Given the description of an element on the screen output the (x, y) to click on. 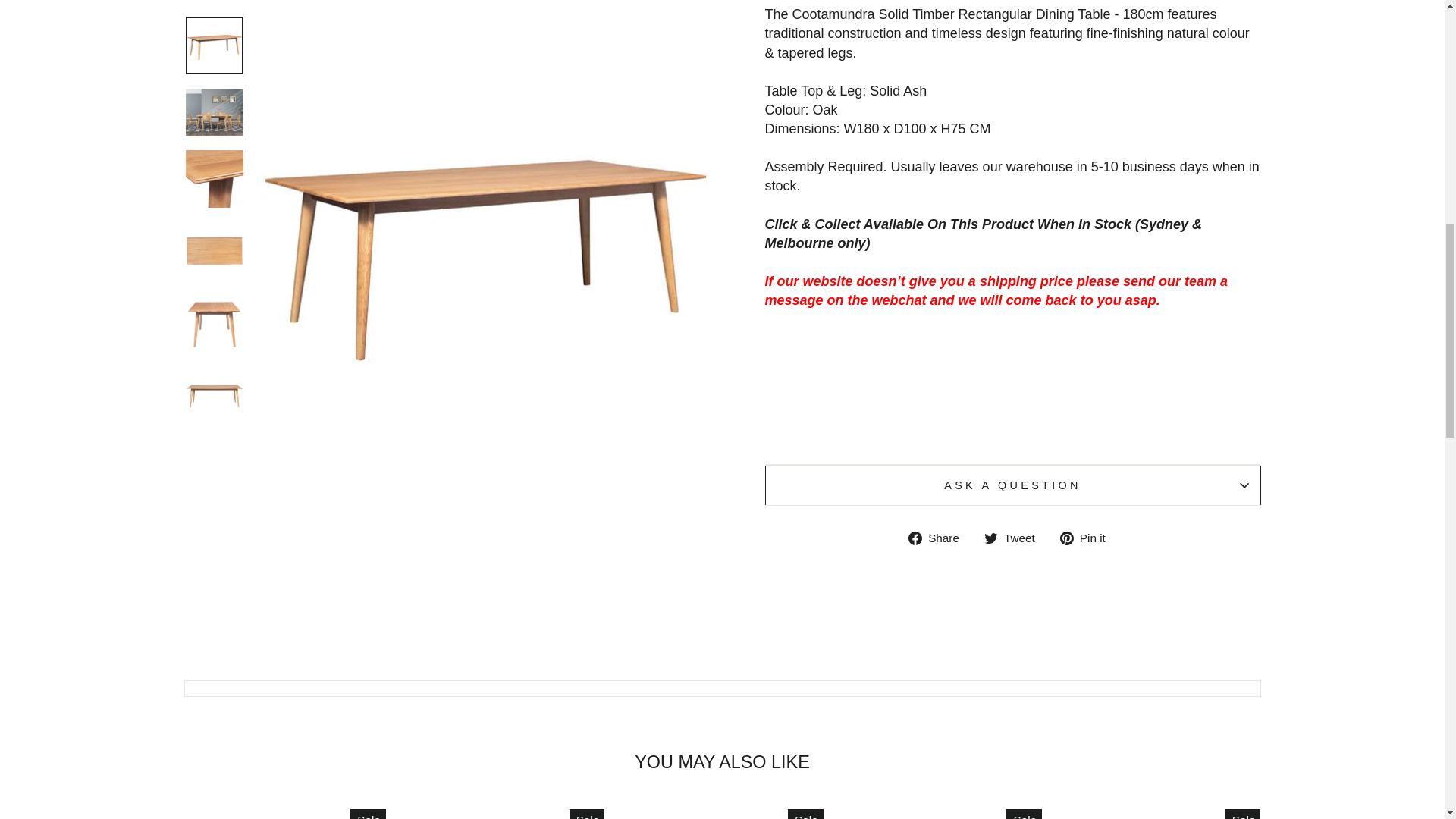
Pin on Pinterest (1087, 537)
Tweet on Twitter (1015, 537)
Share on Facebook (939, 537)
twitter (990, 538)
